Given the description of an element on the screen output the (x, y) to click on. 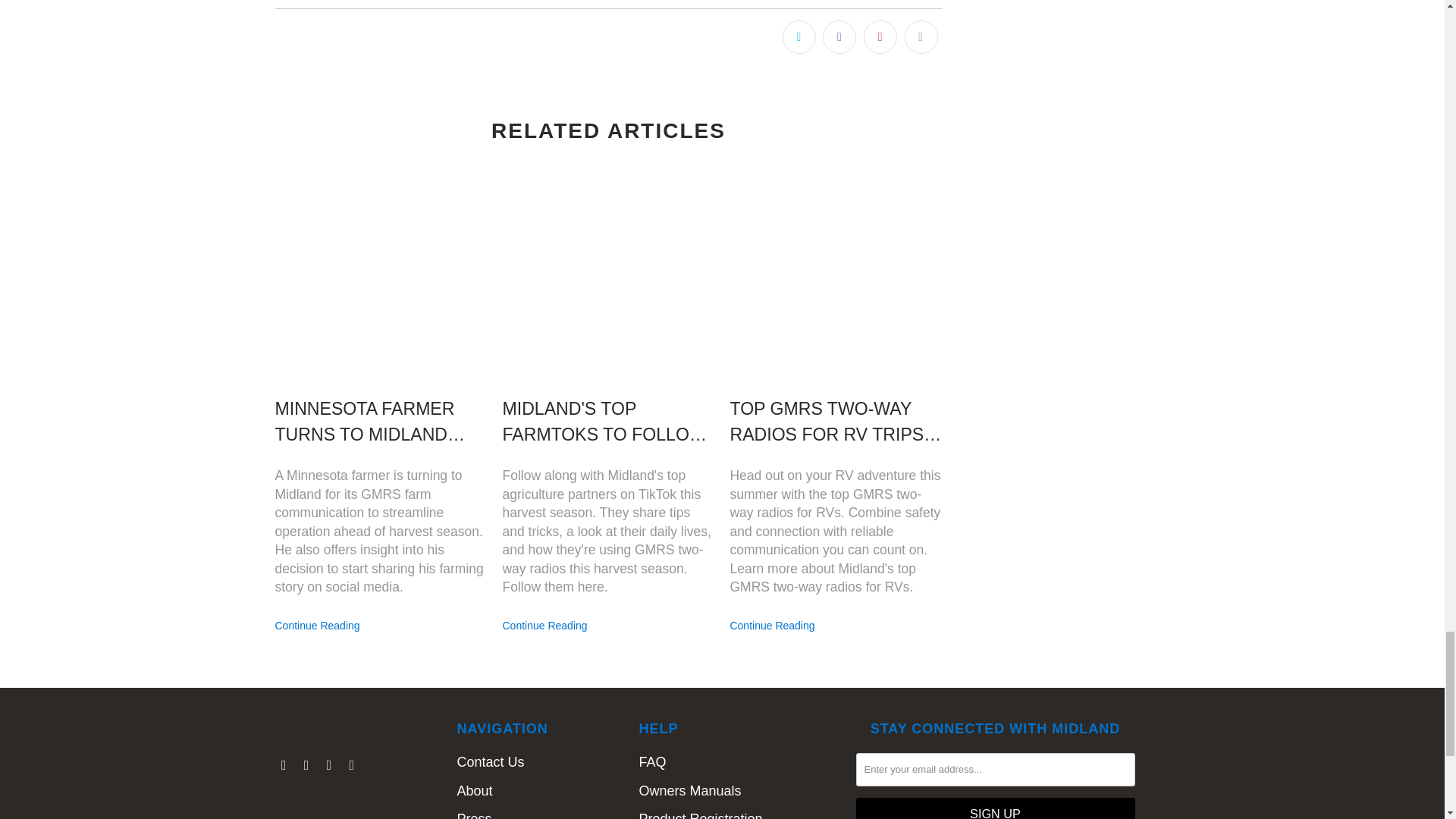
Email this to a friend (920, 37)
Share this on Facebook (839, 37)
Share this on Twitter (799, 37)
Share this on Pinterest (879, 37)
Sign Up (995, 808)
